Given the description of an element on the screen output the (x, y) to click on. 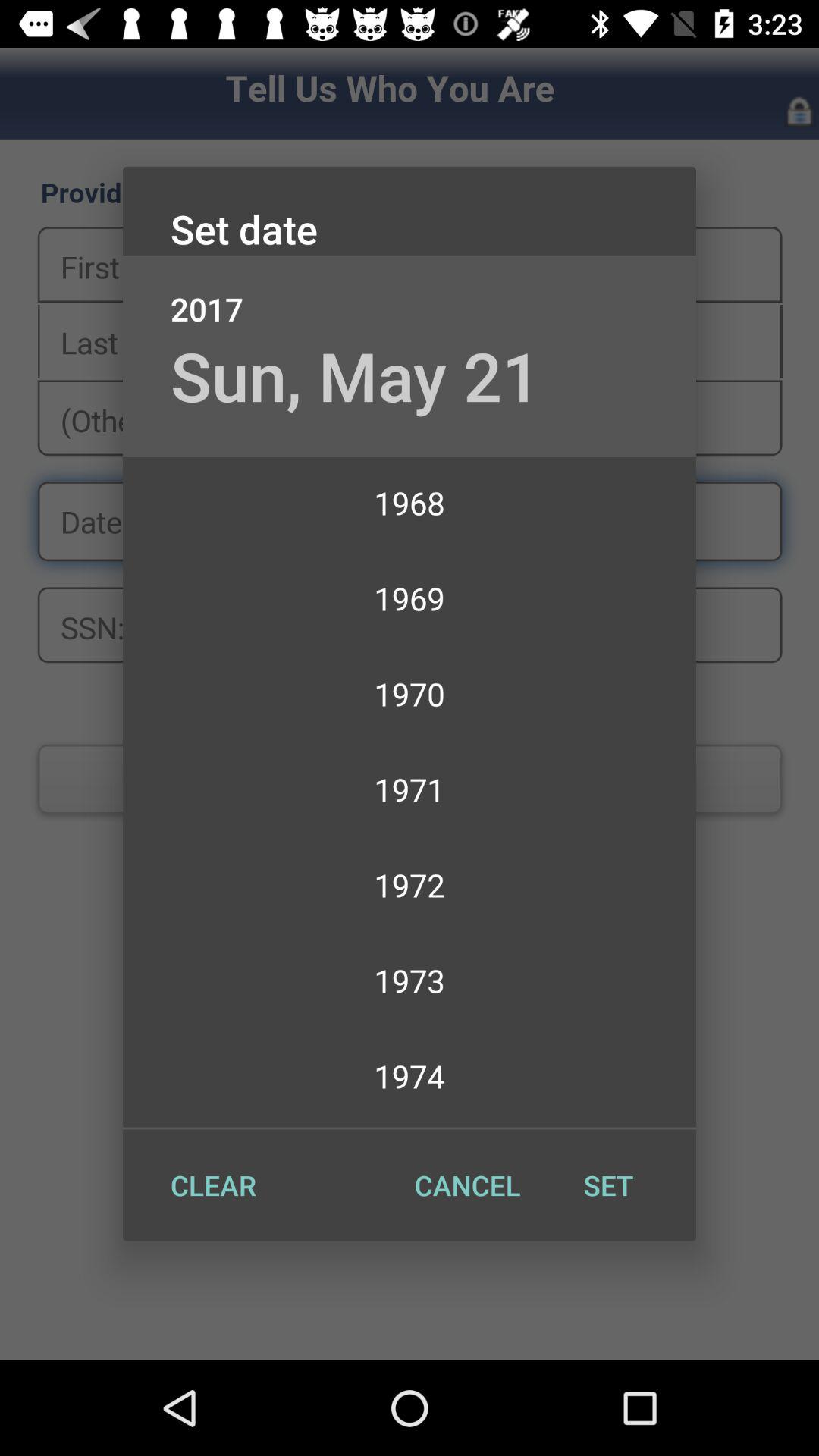
tap item at the bottom left corner (213, 1185)
